Given the description of an element on the screen output the (x, y) to click on. 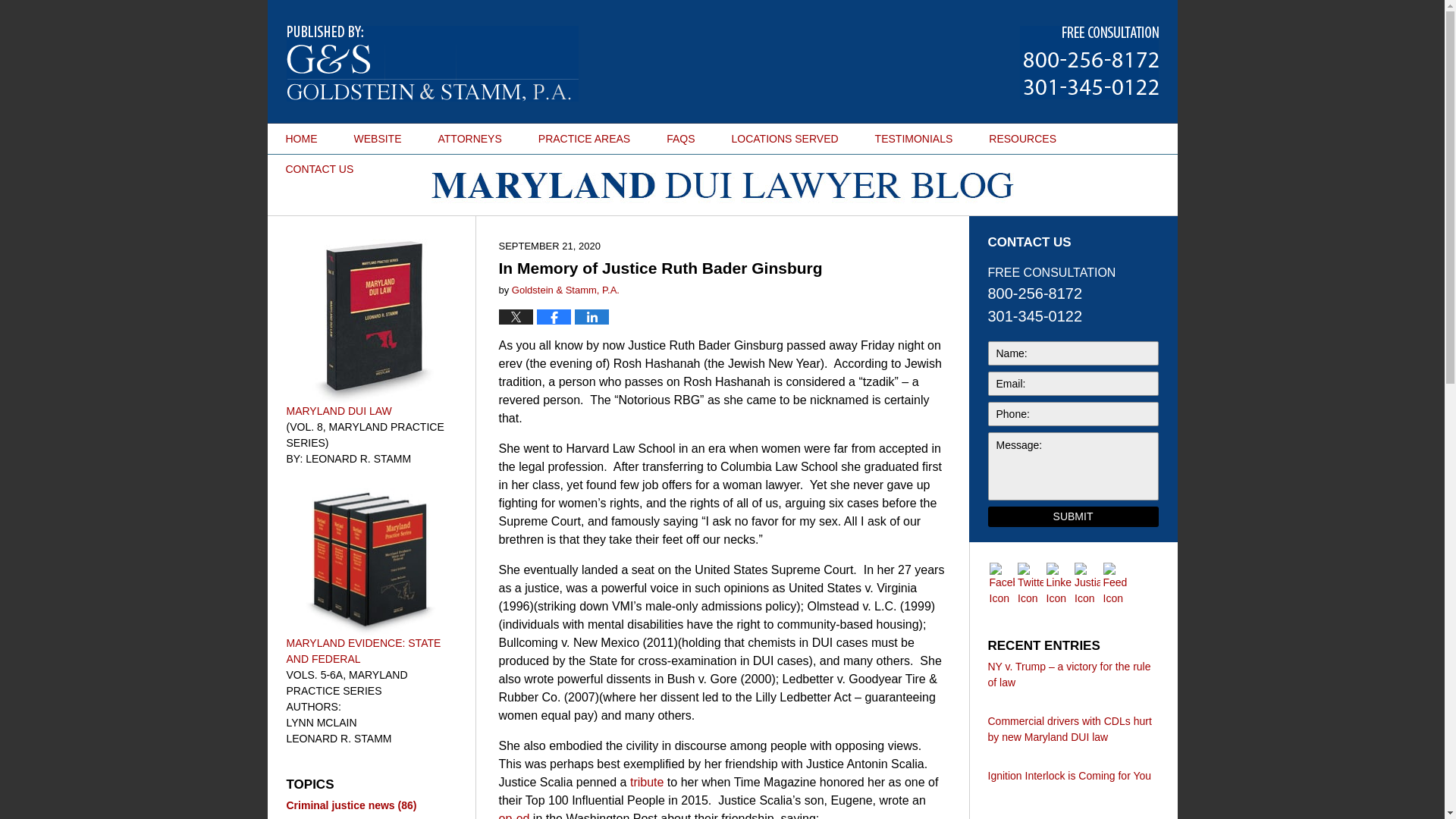
HOME (300, 138)
Please enter a valid phone number. (1072, 413)
PRACTICE AREAS (583, 138)
op-ed (514, 815)
FAQS (680, 138)
RESOURCES (1022, 138)
CONTACT US (318, 168)
tribute (646, 781)
TESTIMONIALS (914, 138)
ATTORNEYS (469, 138)
